Given the description of an element on the screen output the (x, y) to click on. 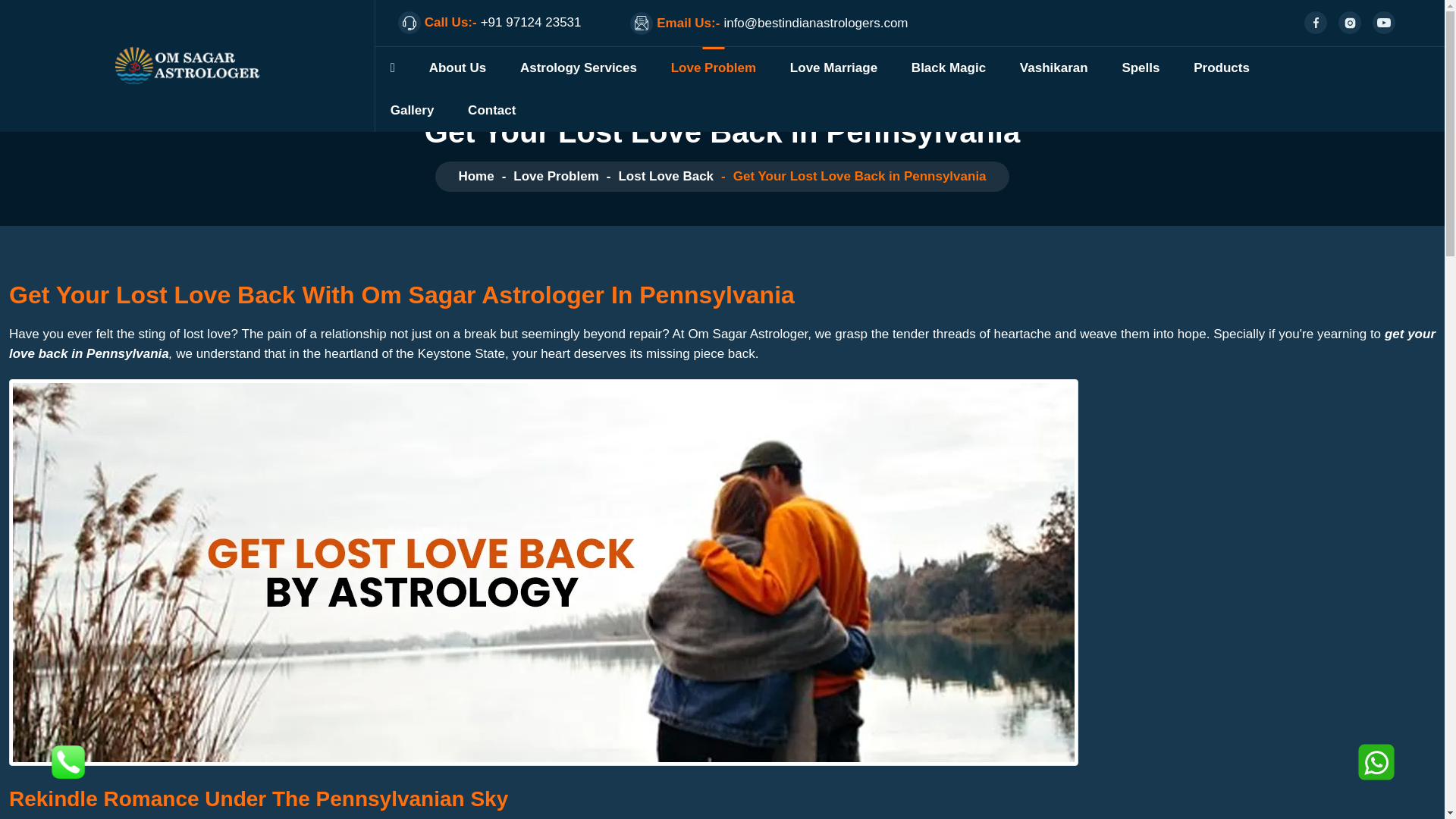
About Us (457, 67)
Astrology Services (578, 67)
